Given the description of an element on the screen output the (x, y) to click on. 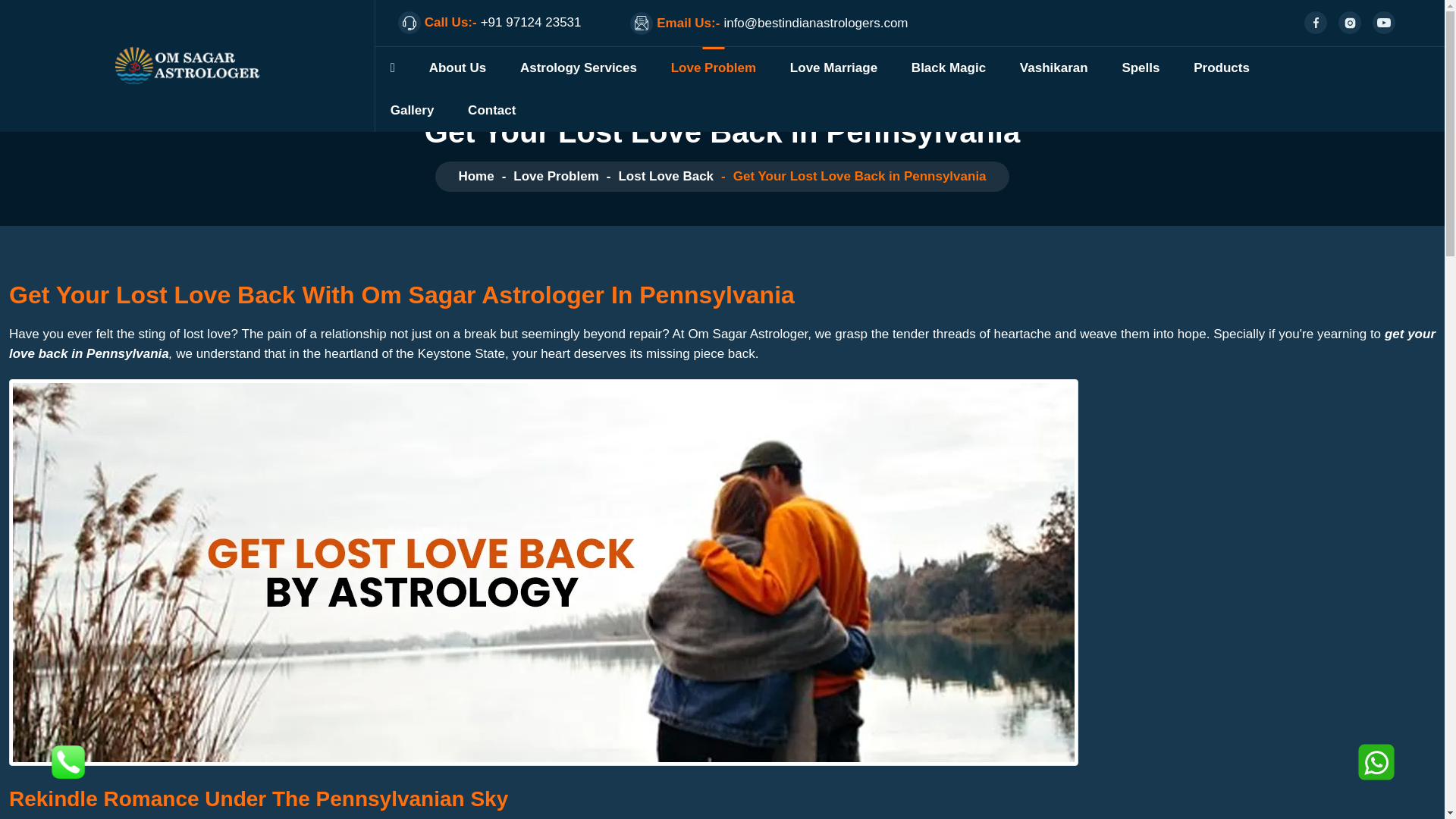
About Us (457, 67)
Astrology Services (578, 67)
